Given the description of an element on the screen output the (x, y) to click on. 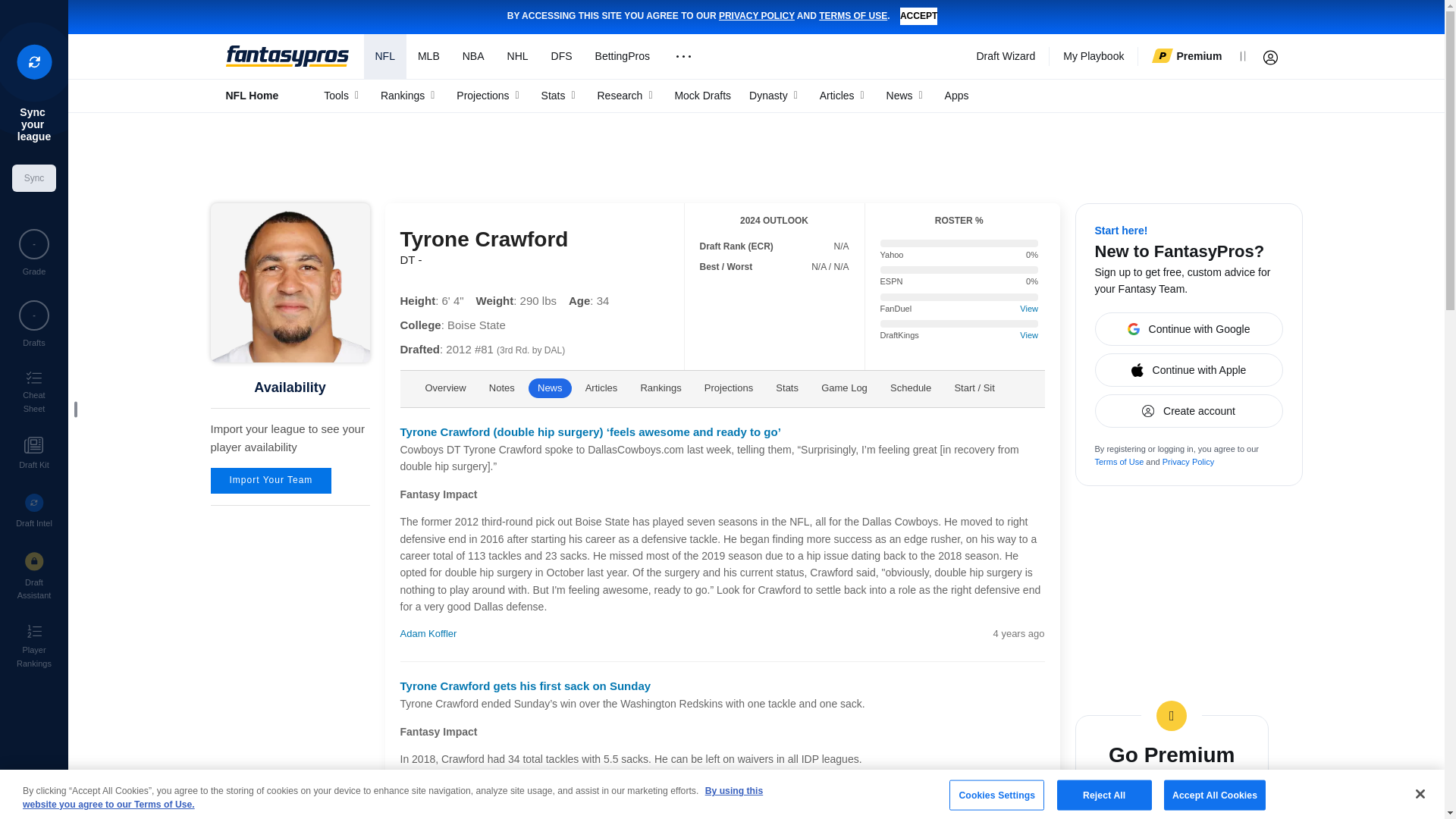
MLB (428, 55)
NBA (473, 55)
PRIVACY POLICY (756, 15)
DFS (561, 55)
ACCEPT (918, 16)
Draft Wizard (1006, 55)
NHL (518, 55)
My Playbook (1093, 55)
NFL (385, 56)
TERMS OF USE (852, 15)
BettingPros (622, 55)
Premium (1186, 55)
